Given the description of an element on the screen output the (x, y) to click on. 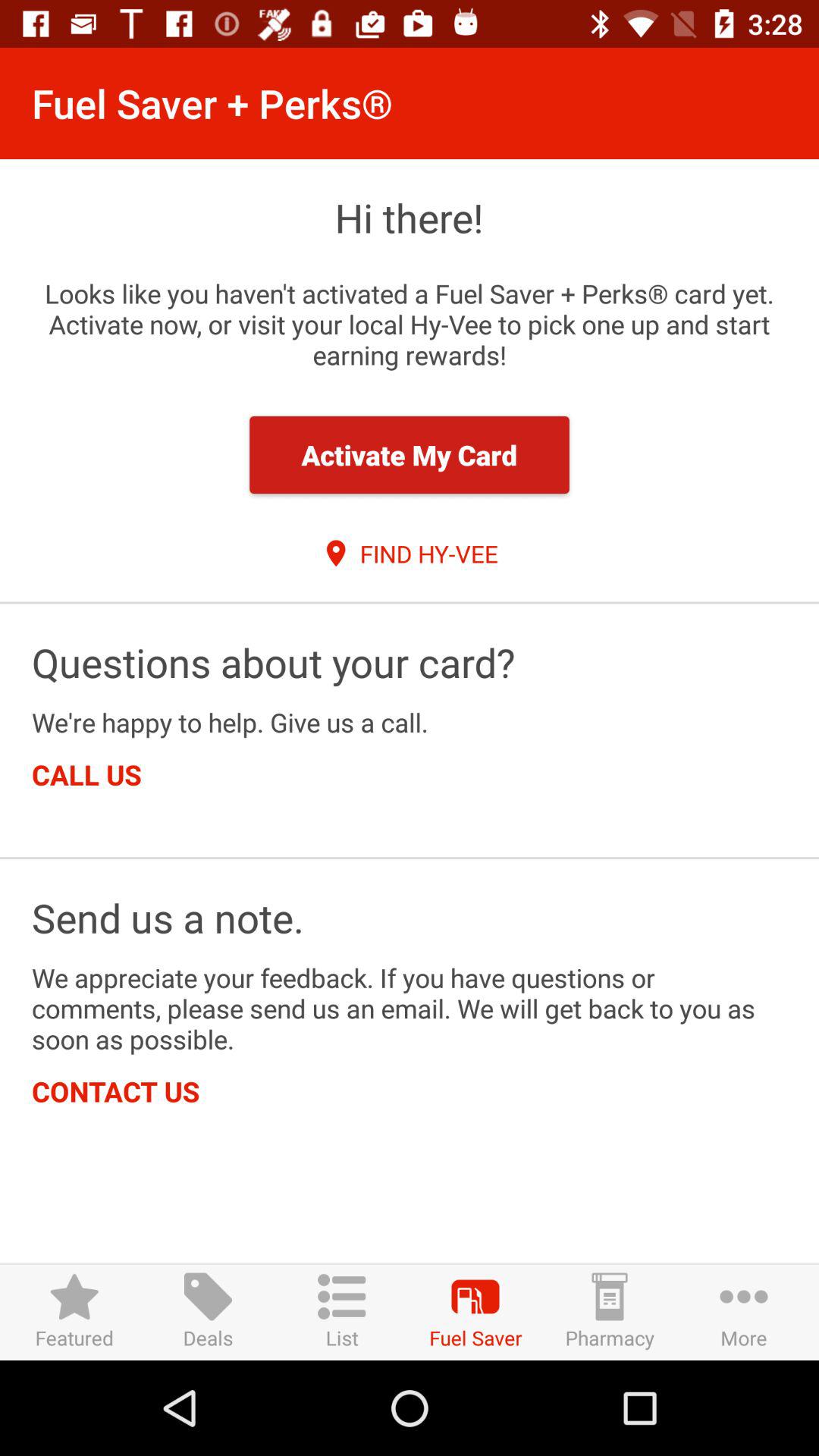
click item to the right of the pharmacy item (743, 1311)
